Given the description of an element on the screen output the (x, y) to click on. 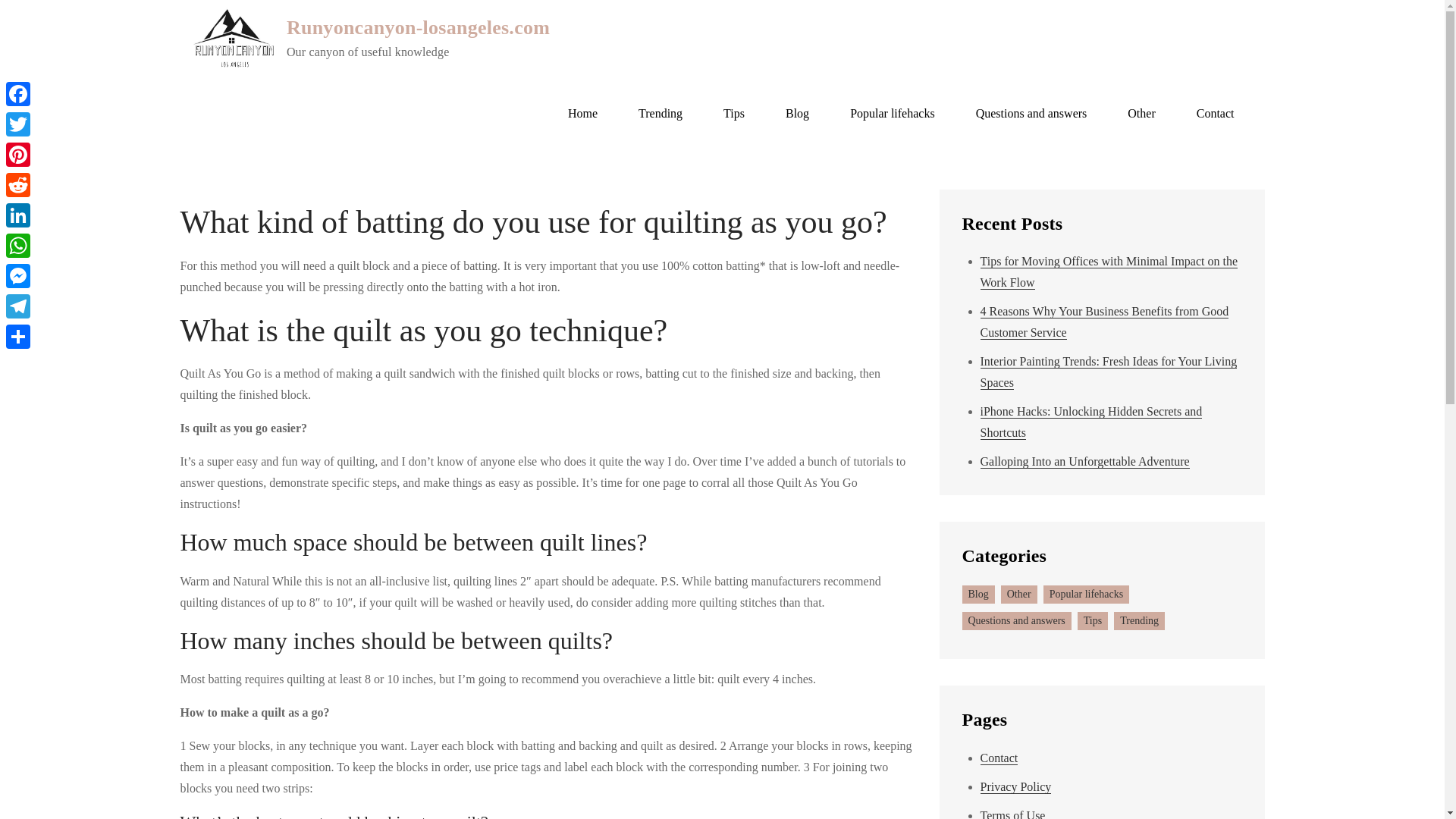
Runyoncanyon-losangeles.com (418, 27)
Other (1018, 594)
Messenger (17, 276)
Contact (998, 757)
Popular lifehacks (892, 113)
Facebook (17, 93)
Reddit (17, 184)
WhatsApp (17, 245)
Trending (660, 113)
LinkedIn (17, 214)
Pinterest (17, 154)
Privacy Policy (1015, 786)
Telegram (17, 306)
Popular lifehacks (1086, 594)
Terms of Use (1012, 814)
